Given the description of an element on the screen output the (x, y) to click on. 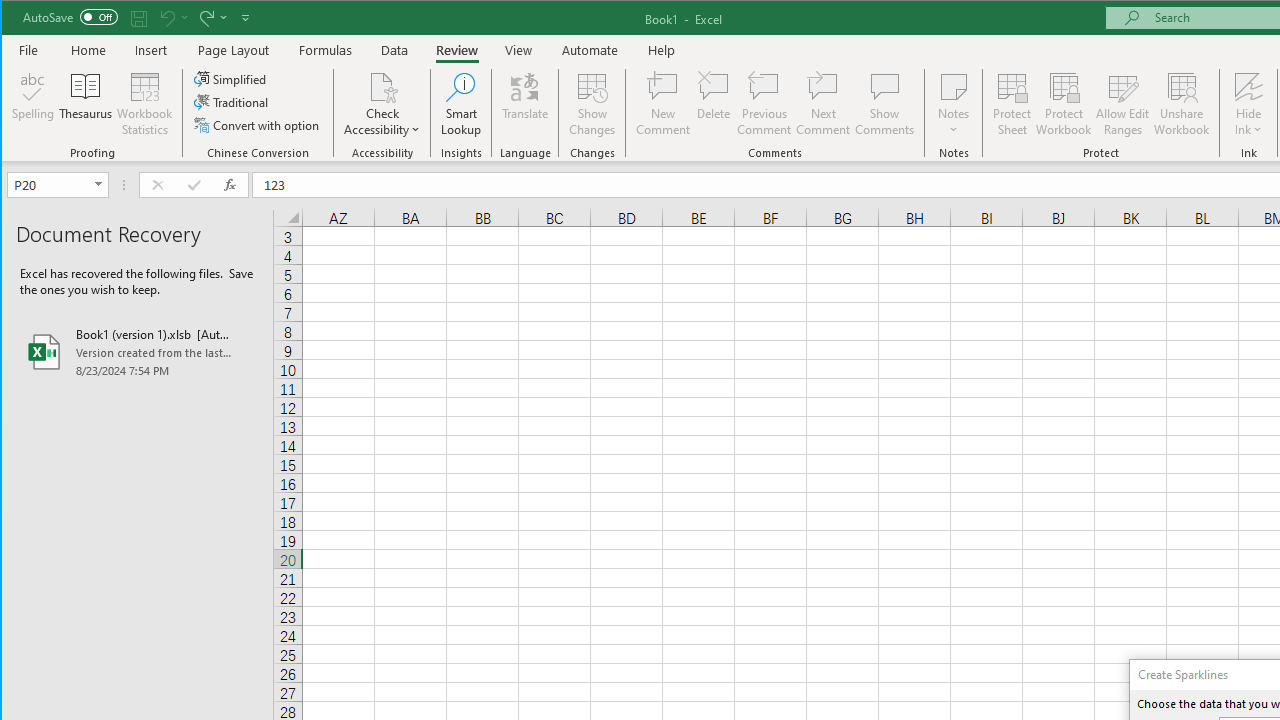
Notes (954, 104)
Show Comments (884, 104)
Protect Sheet... (1012, 104)
Previous Comment (763, 104)
Unshare Workbook (1182, 104)
Smart Lookup (461, 104)
